Given the description of an element on the screen output the (x, y) to click on. 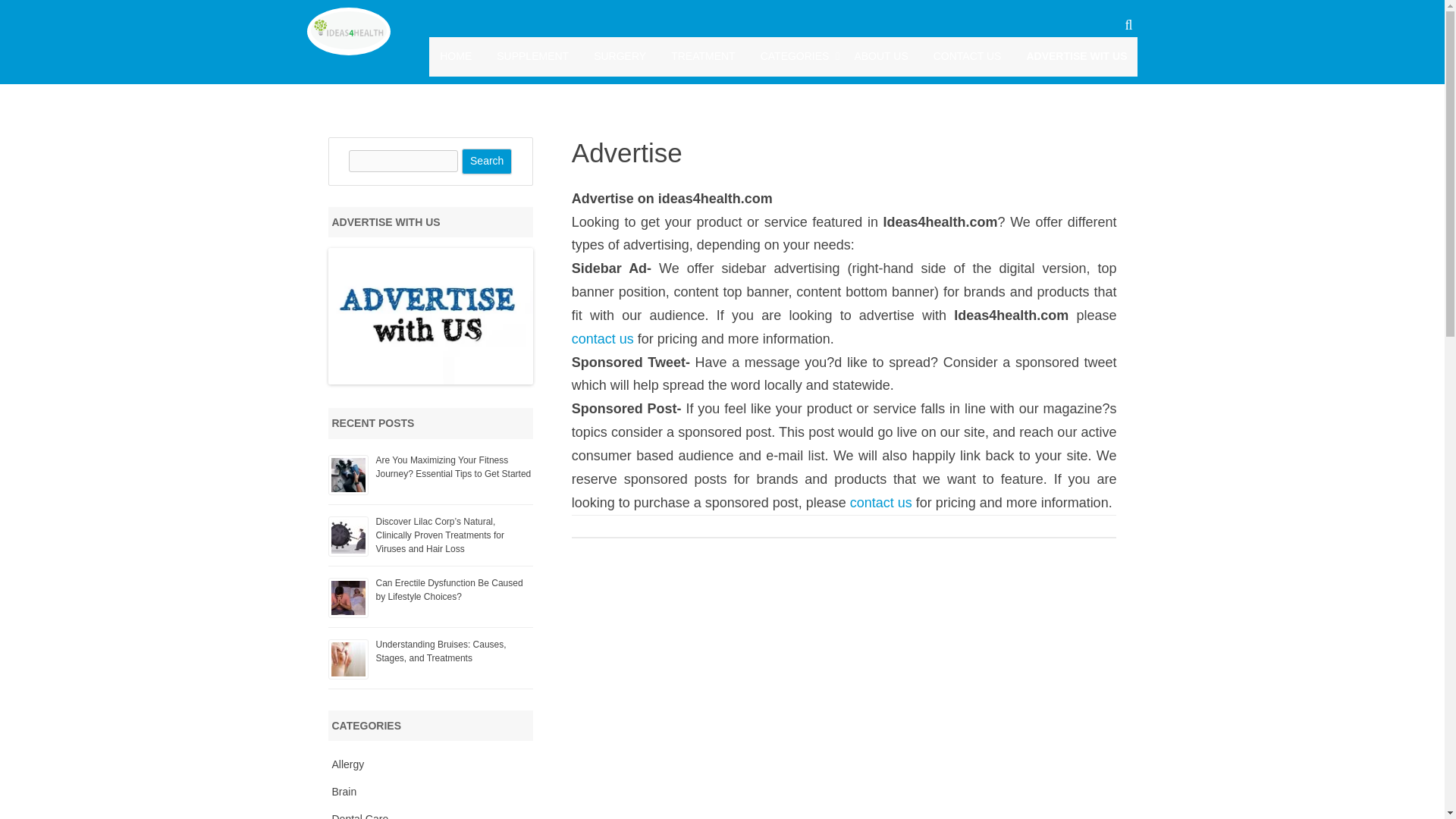
SURGERY (620, 56)
Search (486, 161)
HEALTH CARE (836, 91)
TREATMENT (703, 56)
SUPPLEMENT (532, 56)
CATEGORIES (794, 56)
